Given the description of an element on the screen output the (x, y) to click on. 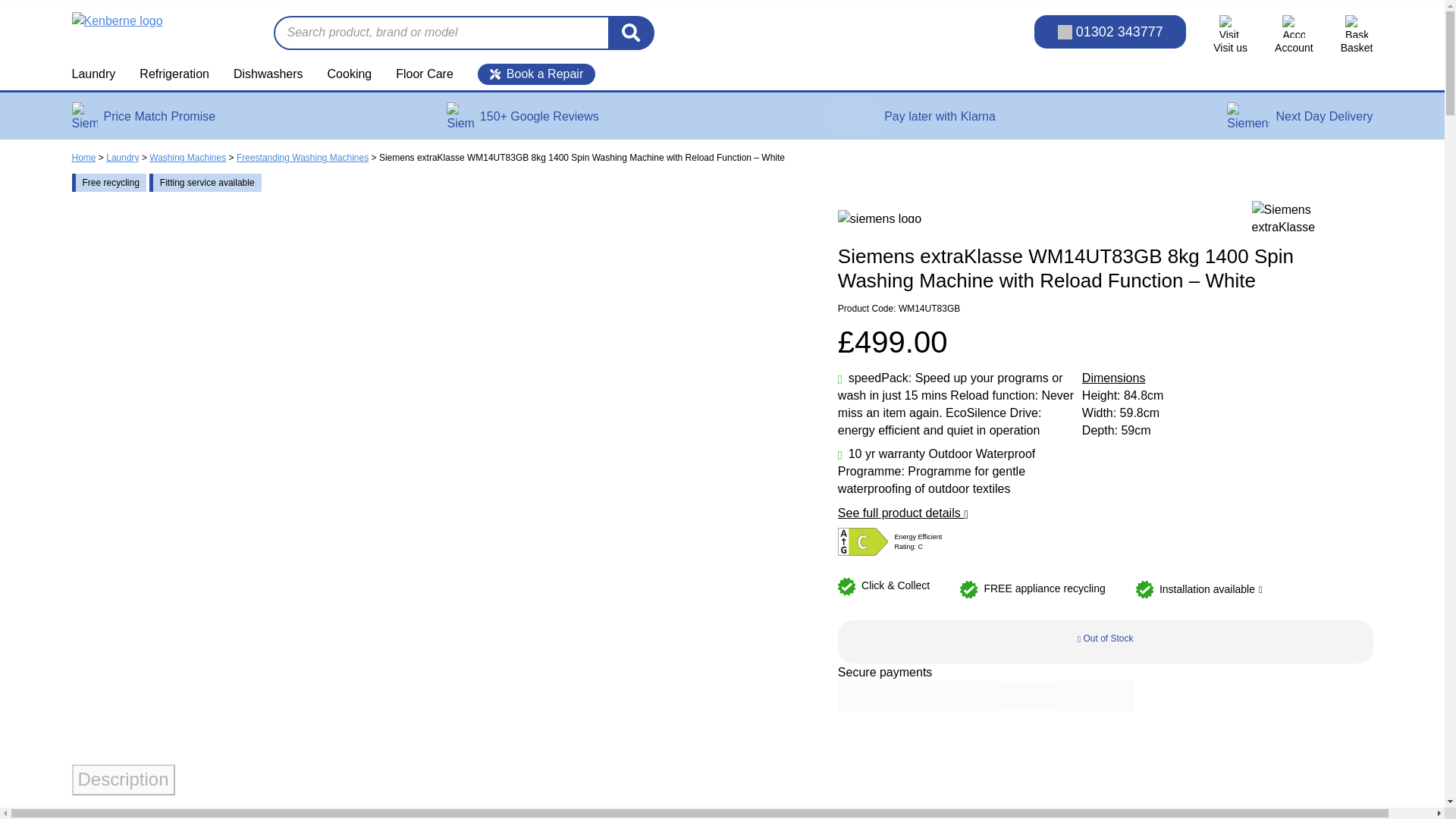
Laundry (99, 73)
01302 343777 (1109, 31)
Laundry (99, 73)
Refrigeration (174, 73)
Account (1294, 35)
Dishwashers (268, 73)
My account (1294, 35)
